Given the description of an element on the screen output the (x, y) to click on. 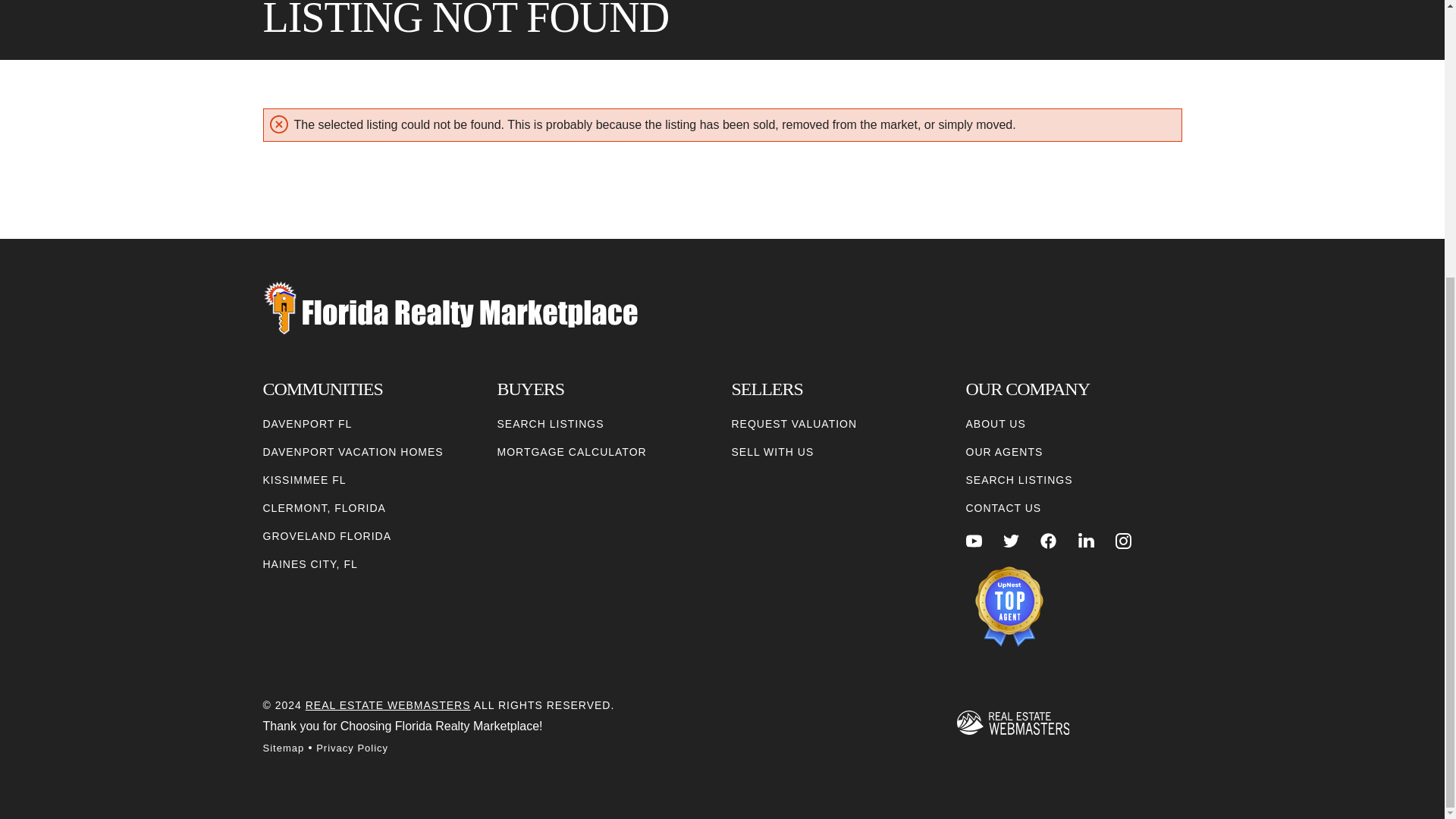
TWITTER (1011, 540)
FACEBOOK (1049, 540)
LINKEDIN (1086, 540)
YOUTUBE (973, 540)
